Given the description of an element on the screen output the (x, y) to click on. 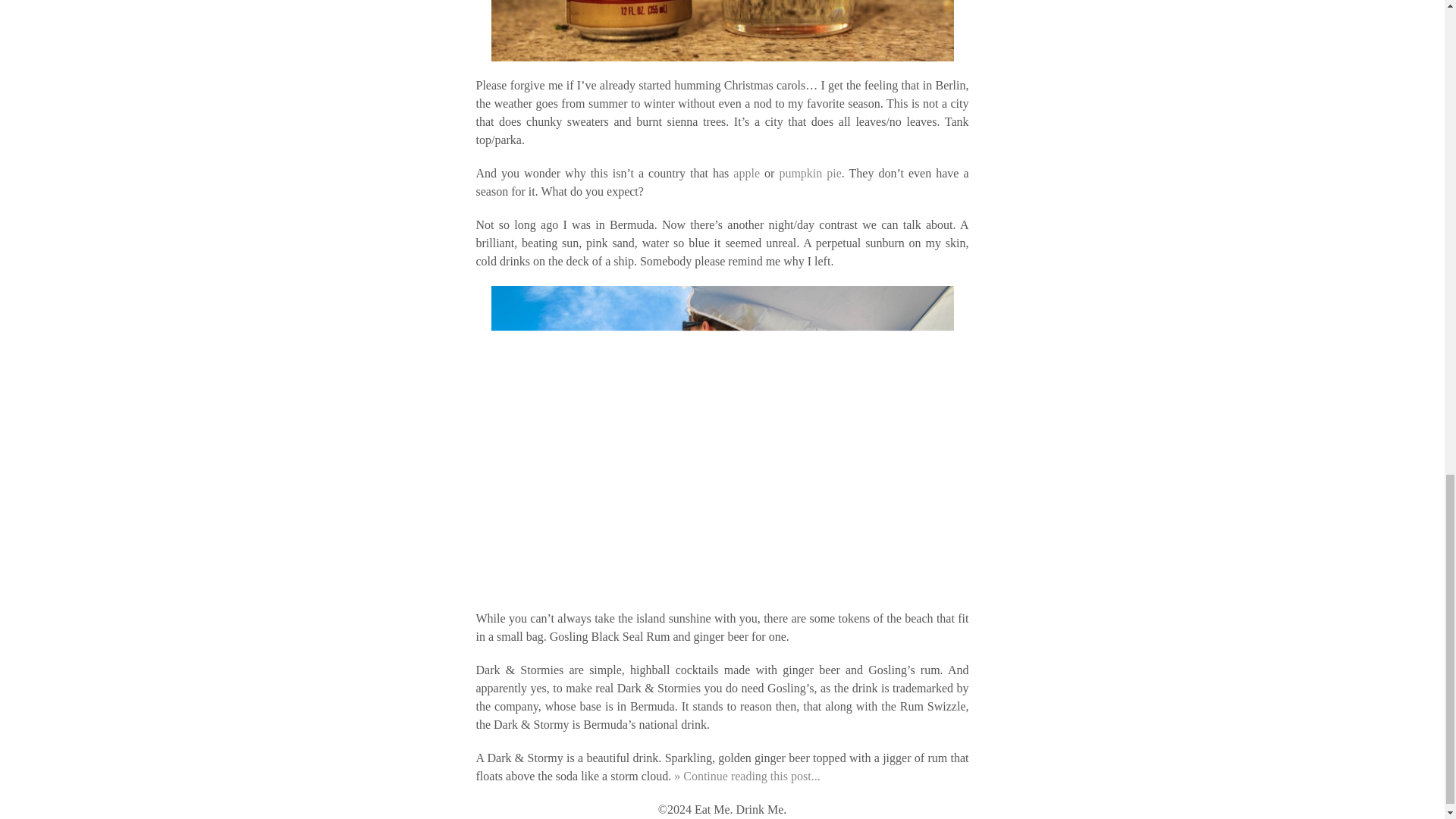
Boo: Pumpkin Pie (809, 173)
pumpkin pie (809, 173)
This is It: Apple Pie (746, 173)
apple (746, 173)
